Given the description of an element on the screen output the (x, y) to click on. 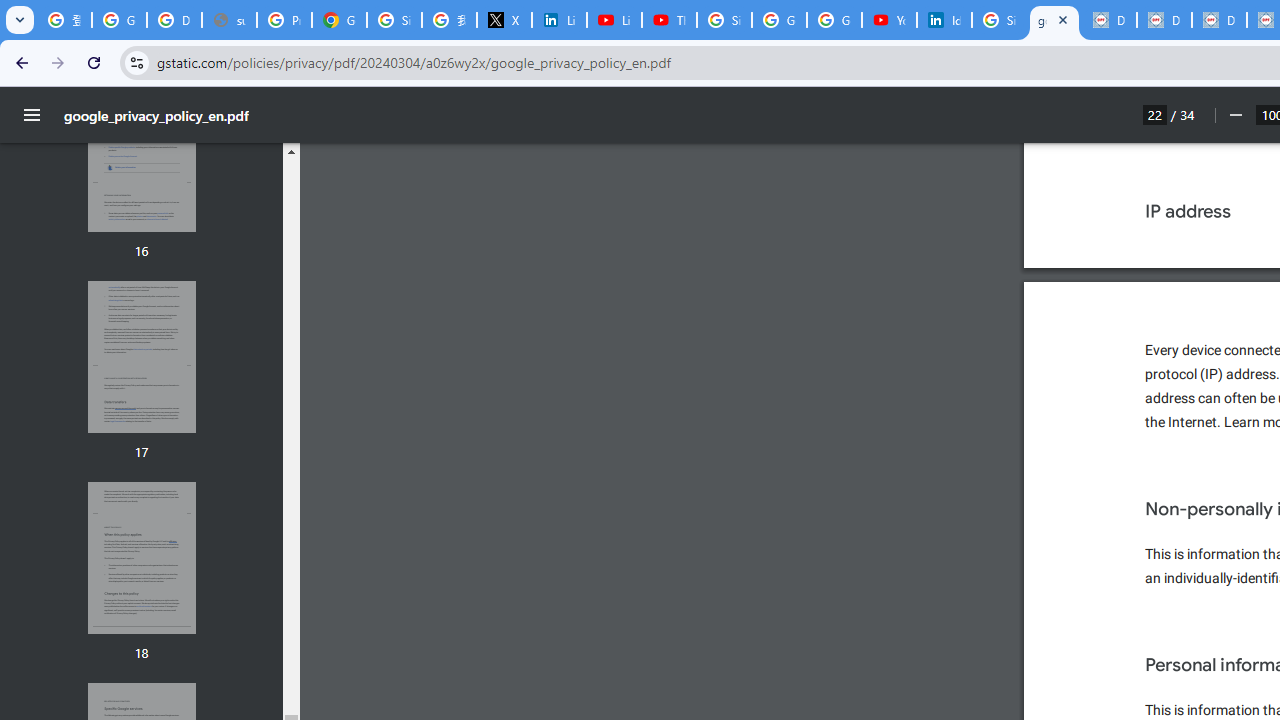
google_privacy_policy_en.pdf (1053, 20)
LinkedIn - YouTube (614, 20)
support.google.com - Network error (229, 20)
X (504, 20)
Privacy Help Center - Policies Help (284, 20)
Thumbnail for page 17 (141, 357)
Menu (31, 115)
